Given the description of an element on the screen output the (x, y) to click on. 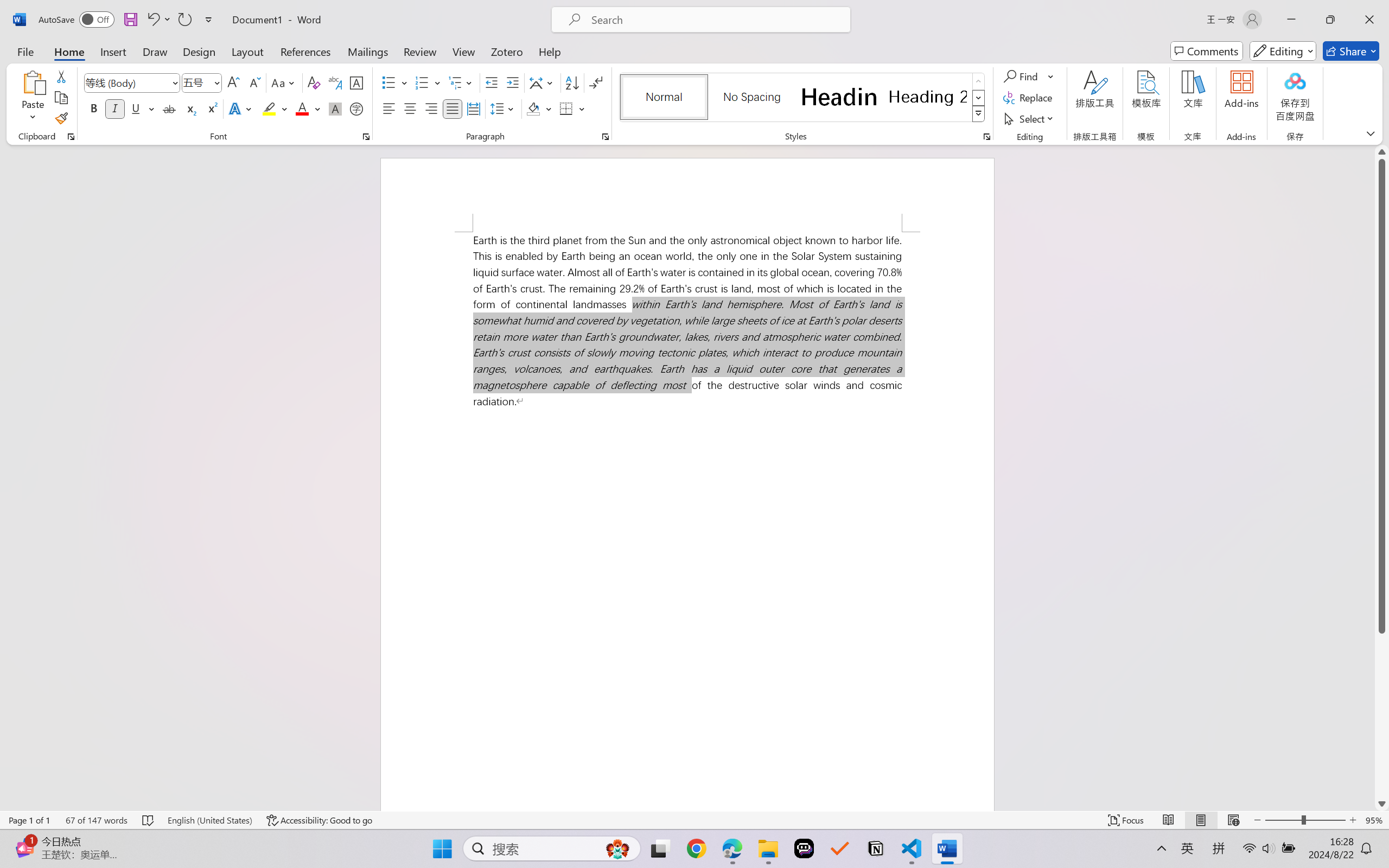
Format Painter (60, 118)
Clear Formatting (313, 82)
Shading RGB(0, 0, 0) (533, 108)
Multilevel List (461, 82)
Cut (60, 75)
Shrink Font (253, 82)
Undo Italic (152, 19)
